Given the description of an element on the screen output the (x, y) to click on. 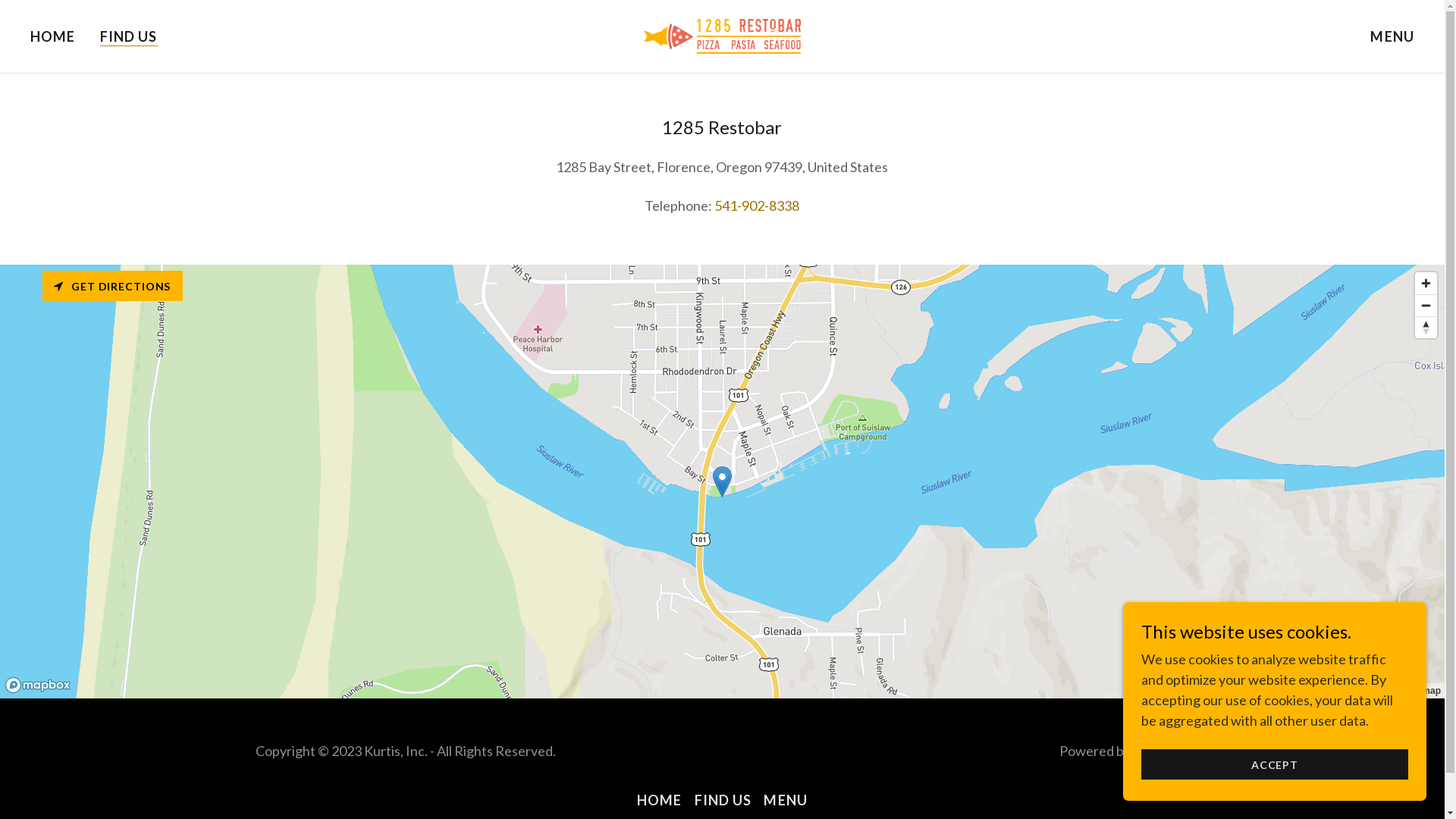
MENU Element type: text (1391, 36)
FIND US Element type: text (128, 36)
Improve this map Element type: text (1402, 690)
GoDaddy Element type: text (1160, 749)
Zoom in Element type: hover (1426, 283)
FIND US Element type: text (723, 799)
Zoom out Element type: hover (1426, 305)
1285 Restobar Element type: hover (721, 34)
541-902-8338 Element type: text (756, 205)
ACCEPT Element type: text (1274, 764)
HOME Element type: text (52, 36)
Reset bearing to north Element type: hover (1426, 327)
MENU Element type: text (785, 799)
HOME Element type: text (659, 799)
GET DIRECTIONS Element type: text (112, 285)
